Given the description of an element on the screen output the (x, y) to click on. 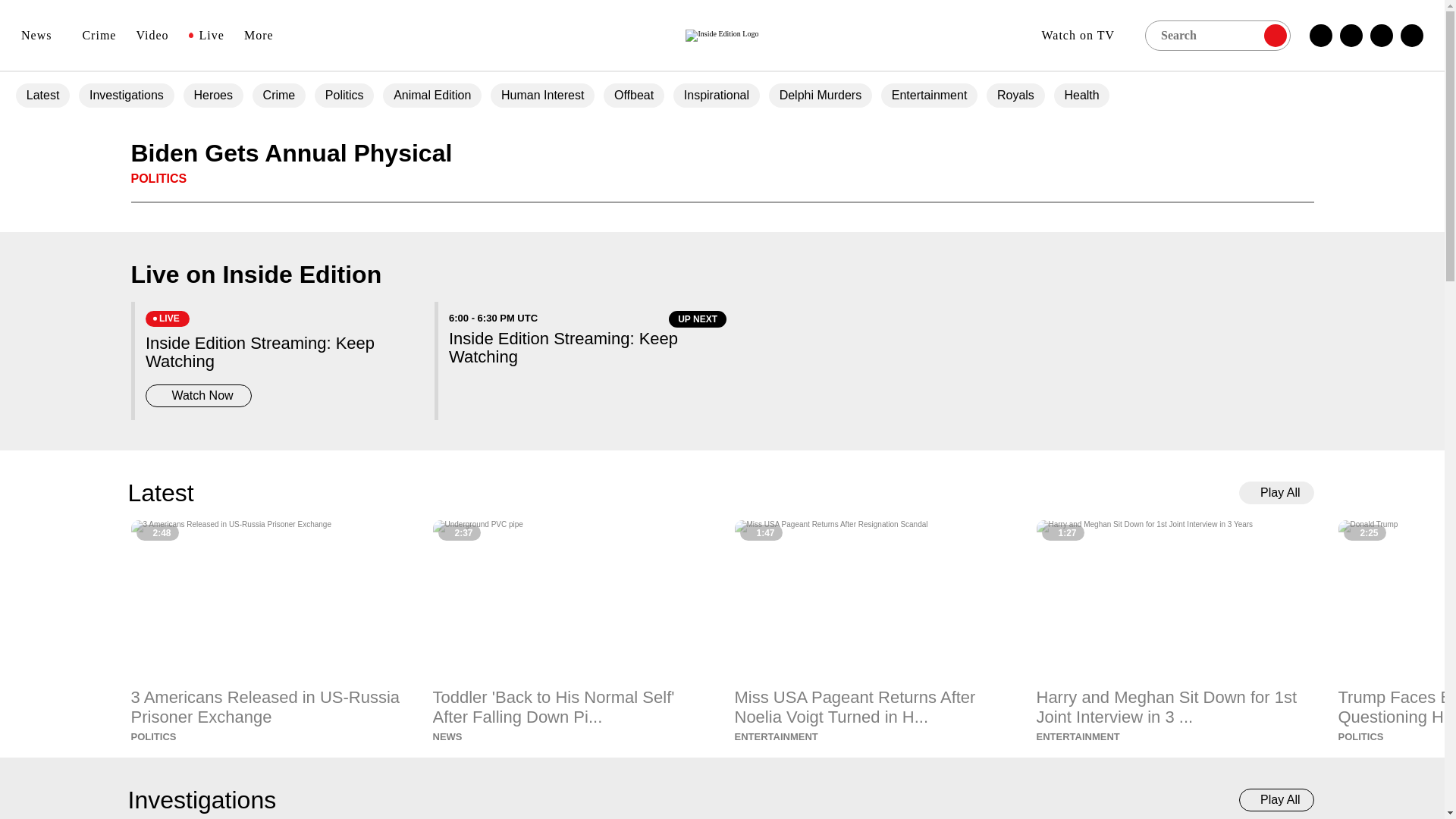
Watch on TV (1083, 35)
More (263, 35)
Live (206, 35)
Crime (98, 35)
News (41, 35)
Enter the terms you wish to search for. (1217, 34)
Video (151, 35)
